Given the description of an element on the screen output the (x, y) to click on. 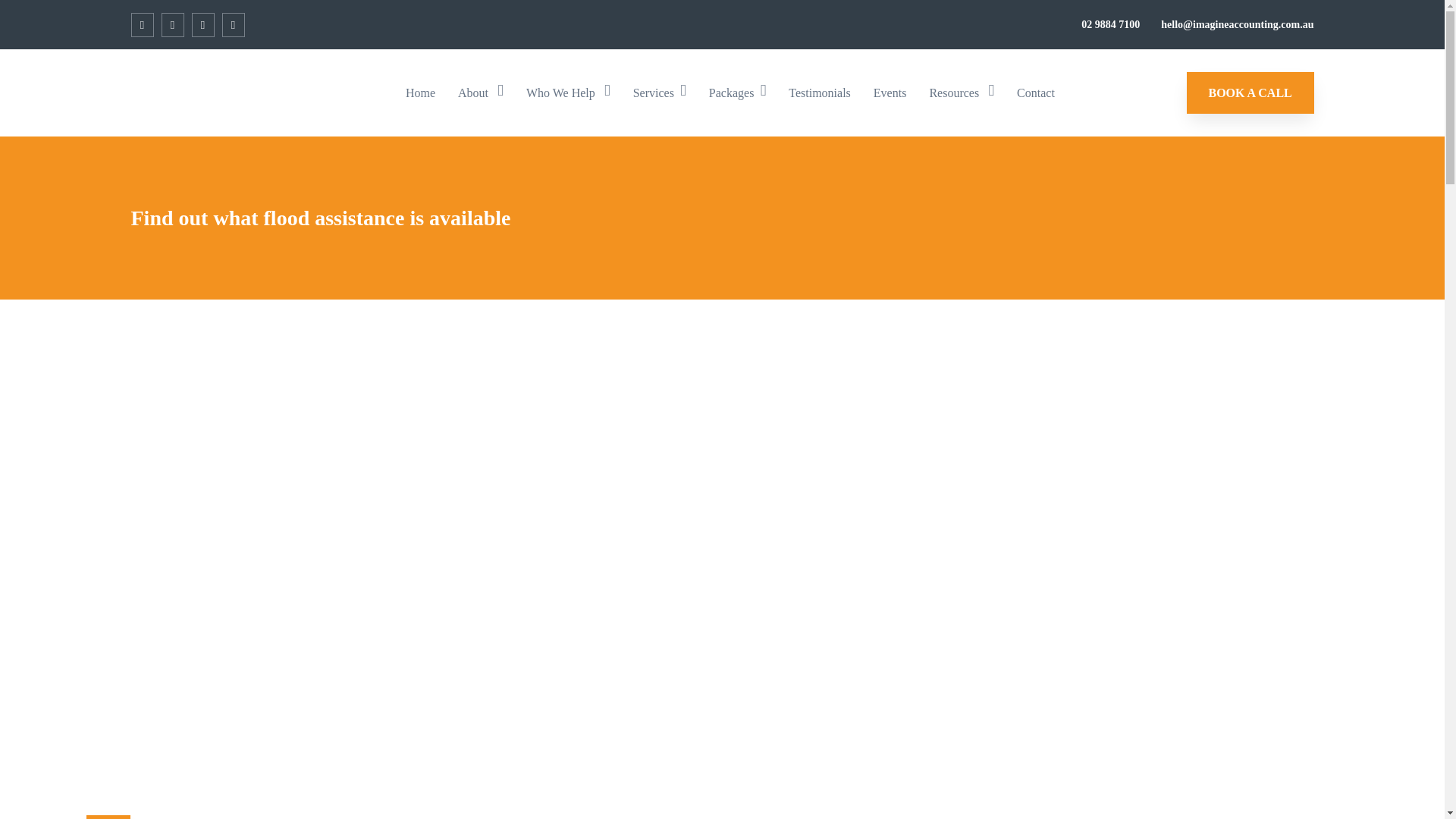
Home (420, 93)
Packages (737, 93)
Events (889, 93)
Facebook (141, 24)
About (480, 93)
LinkedIn (202, 24)
Back to top (108, 816)
Resources (961, 93)
Who We Help (568, 93)
02 9884 7100 (1108, 24)
Services (659, 93)
YouTube (232, 24)
Testimonials (819, 93)
Google (171, 24)
